Given the description of an element on the screen output the (x, y) to click on. 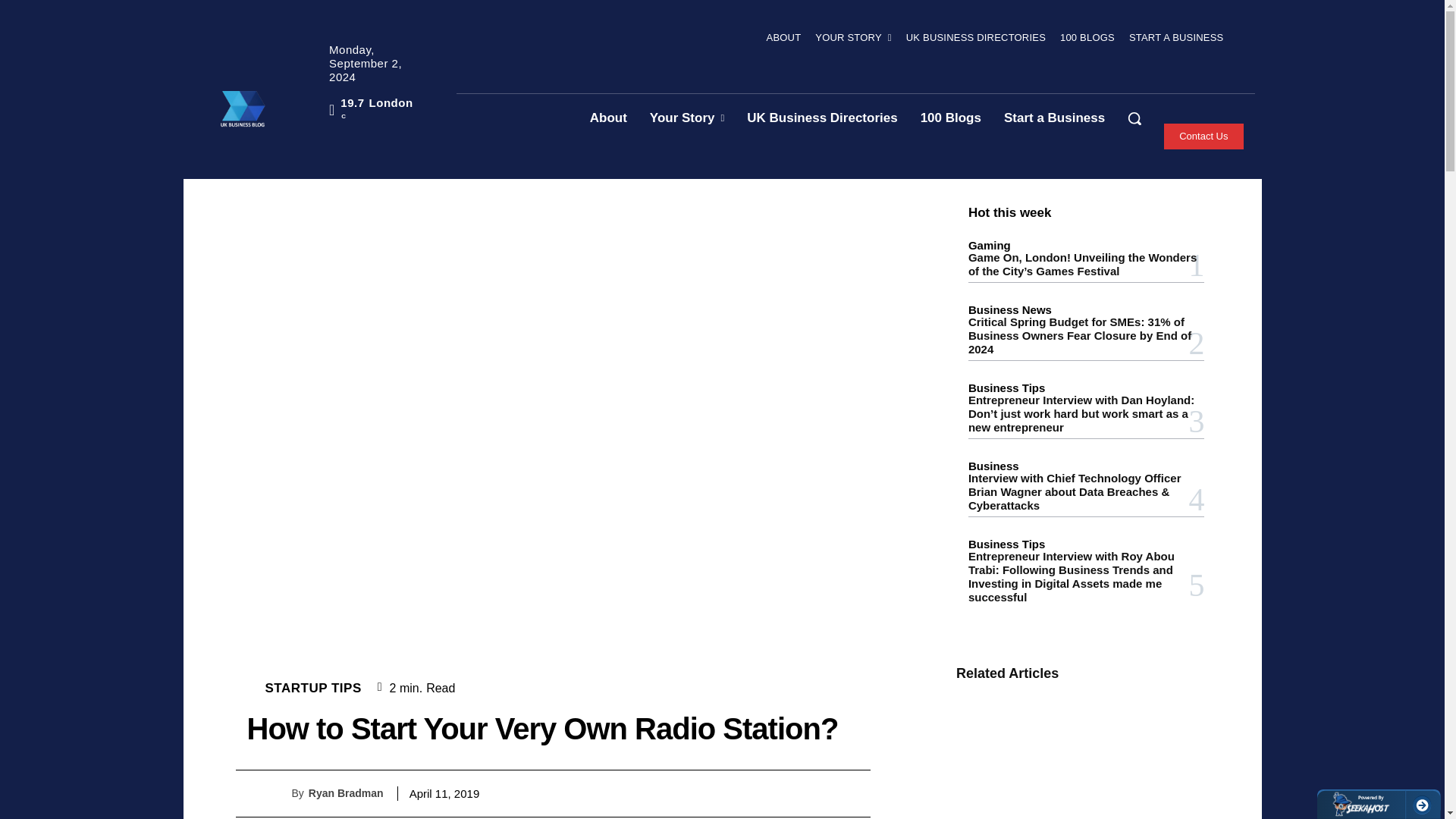
UK BUSINESS DIRECTORIES (975, 37)
Ryan Bradman (278, 793)
YOUR STORY (852, 37)
ABOUT (784, 37)
100 BLOGS (1087, 37)
Your Story (687, 118)
Contact Us (1203, 135)
UK Business Directories (821, 118)
START A BUSINESS (1175, 37)
About (608, 118)
